Given the description of an element on the screen output the (x, y) to click on. 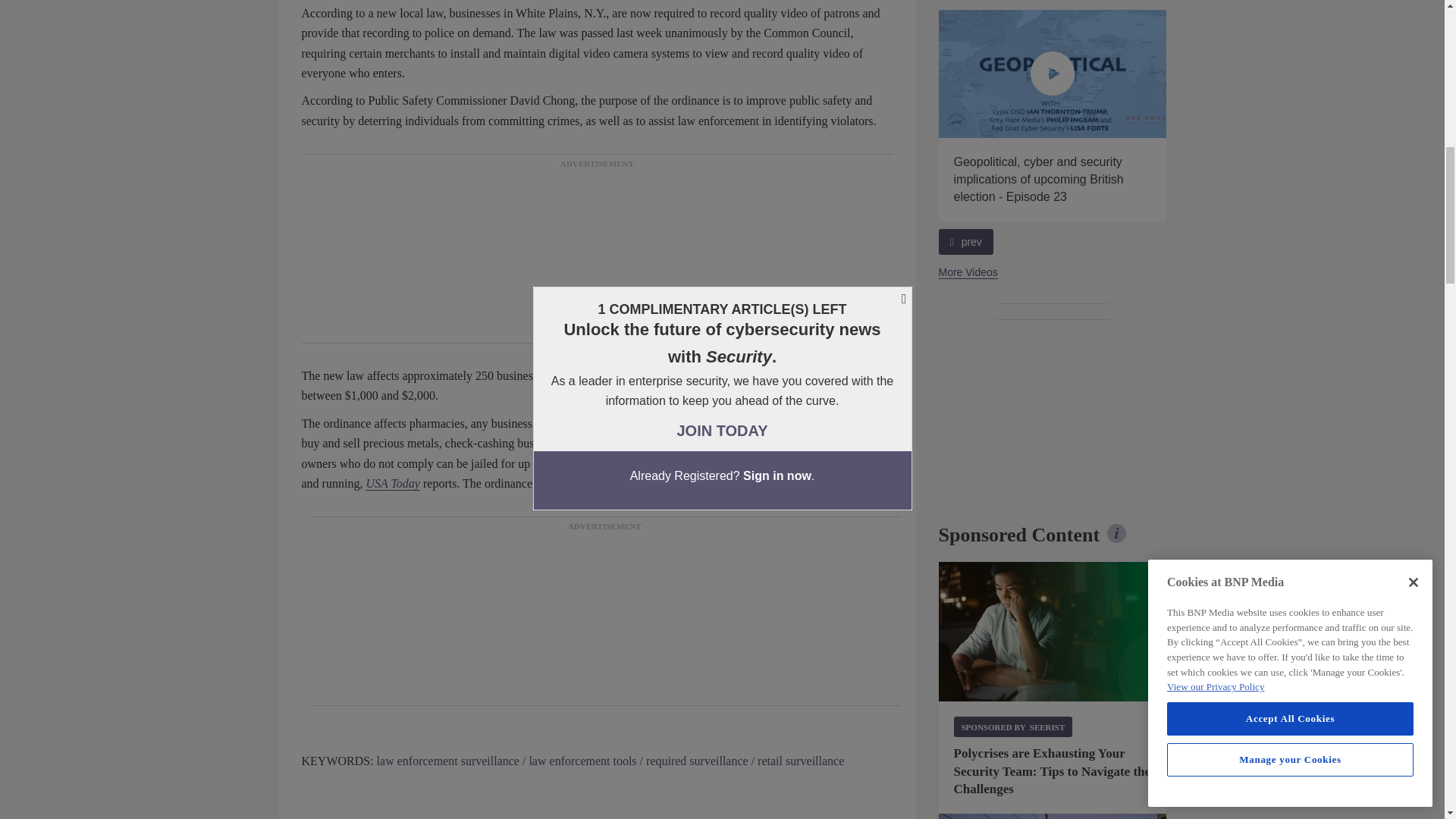
Sponsored by Seerist (1013, 726)
AMAROK Security Gate (1052, 816)
Threat management (1052, 631)
